Given the description of an element on the screen output the (x, y) to click on. 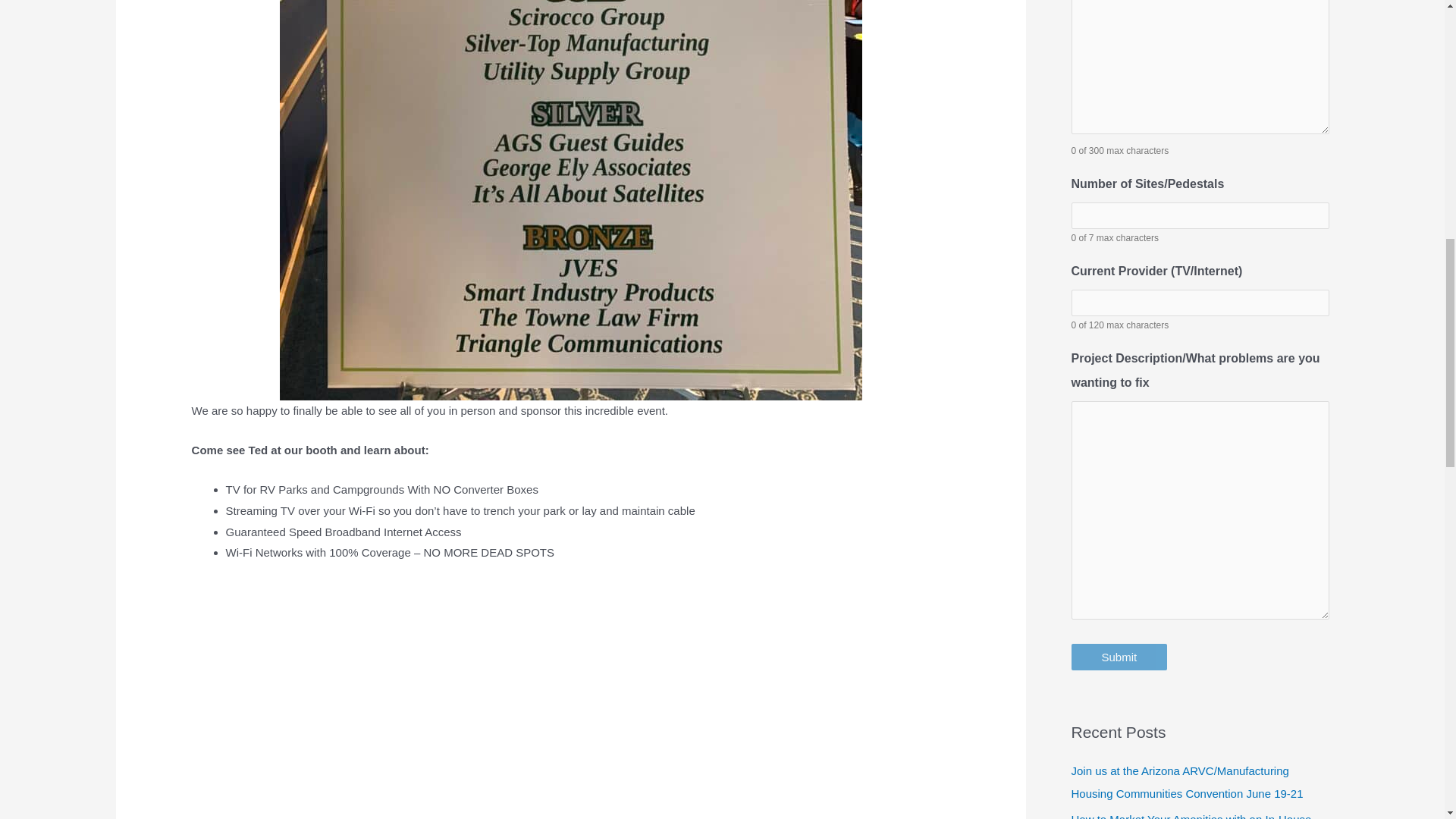
How to Market Your Amenities with an In-House Channel (1190, 816)
Submit (1118, 656)
Submit (1118, 656)
